Given the description of an element on the screen output the (x, y) to click on. 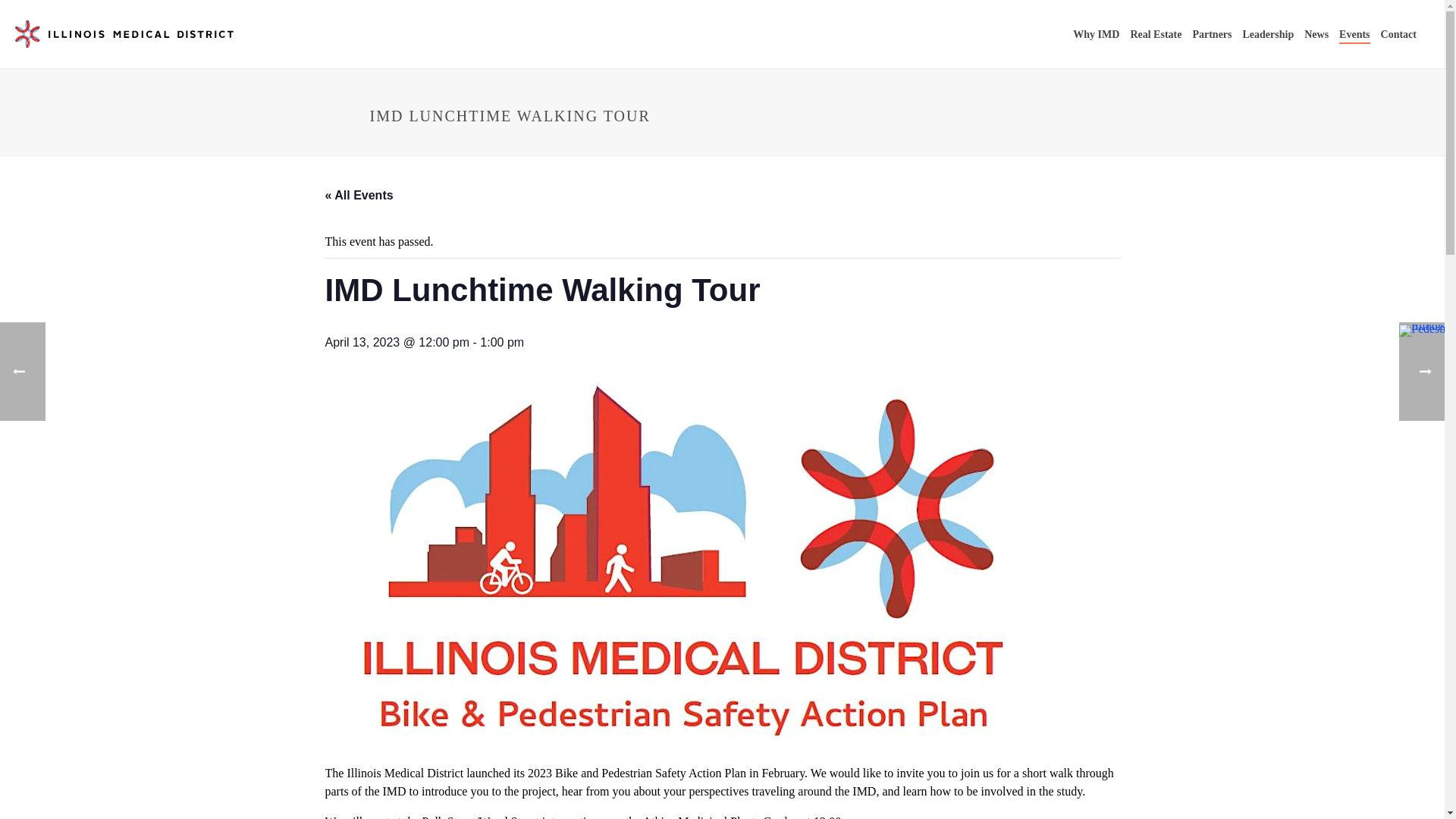
Leadership (1268, 34)
Contact (1398, 34)
Real Estate (1155, 34)
Why IMD (1095, 34)
Contact (1398, 34)
News (1315, 34)
Partners (1211, 34)
Events (1353, 34)
Why IMD (1095, 34)
Leadership (1268, 34)
